Given the description of an element on the screen output the (x, y) to click on. 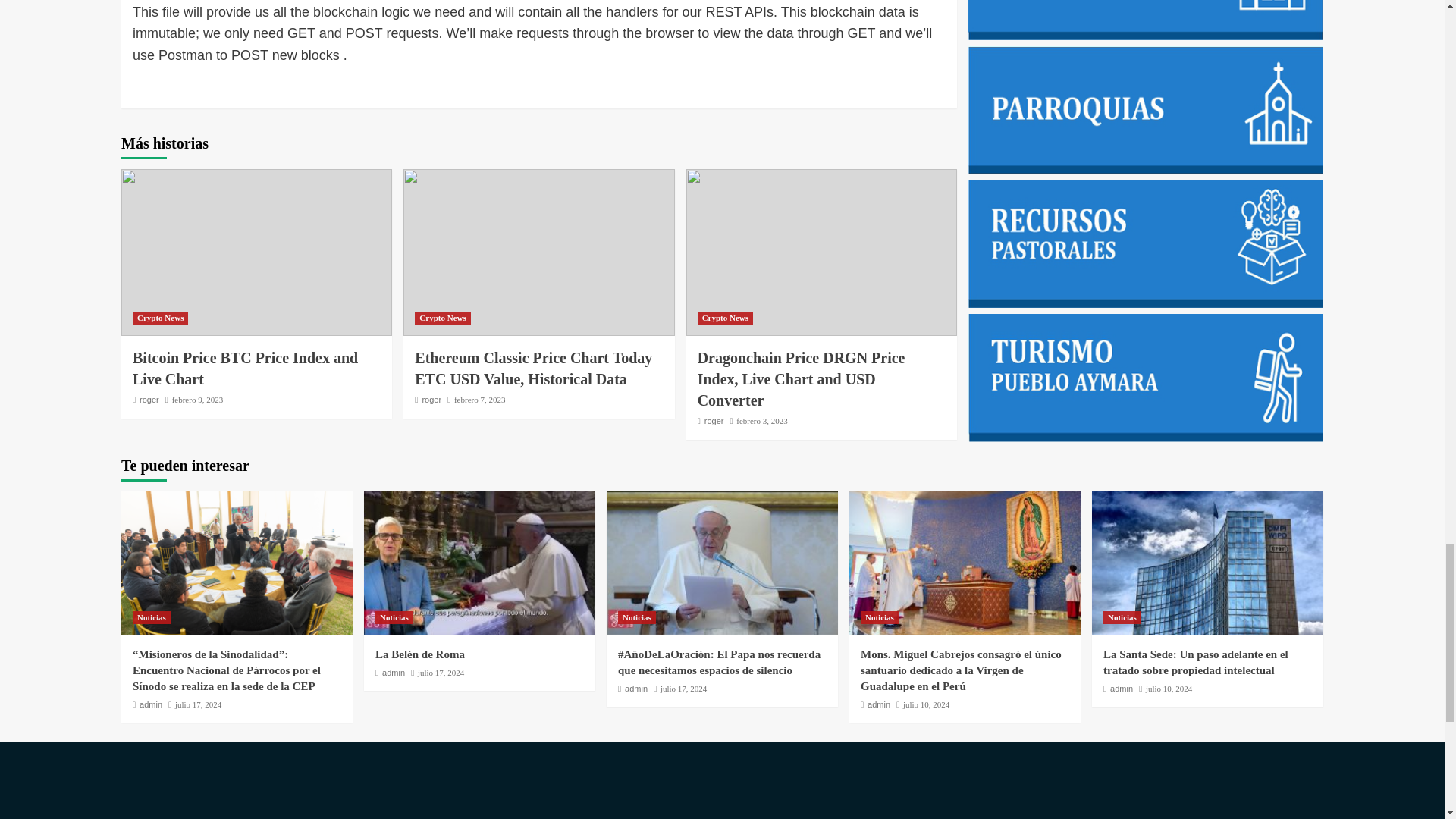
febrero 3, 2023 (761, 420)
Crypto News (159, 318)
Crypto News (442, 318)
Bitcoin Price BTC Price Index and Live Chart (245, 368)
roger (148, 399)
febrero 7, 2023 (479, 399)
roger (431, 399)
Crypto News (724, 318)
YouTube video player (316, 812)
febrero 9, 2023 (197, 399)
roger (713, 420)
